Given the description of an element on the screen output the (x, y) to click on. 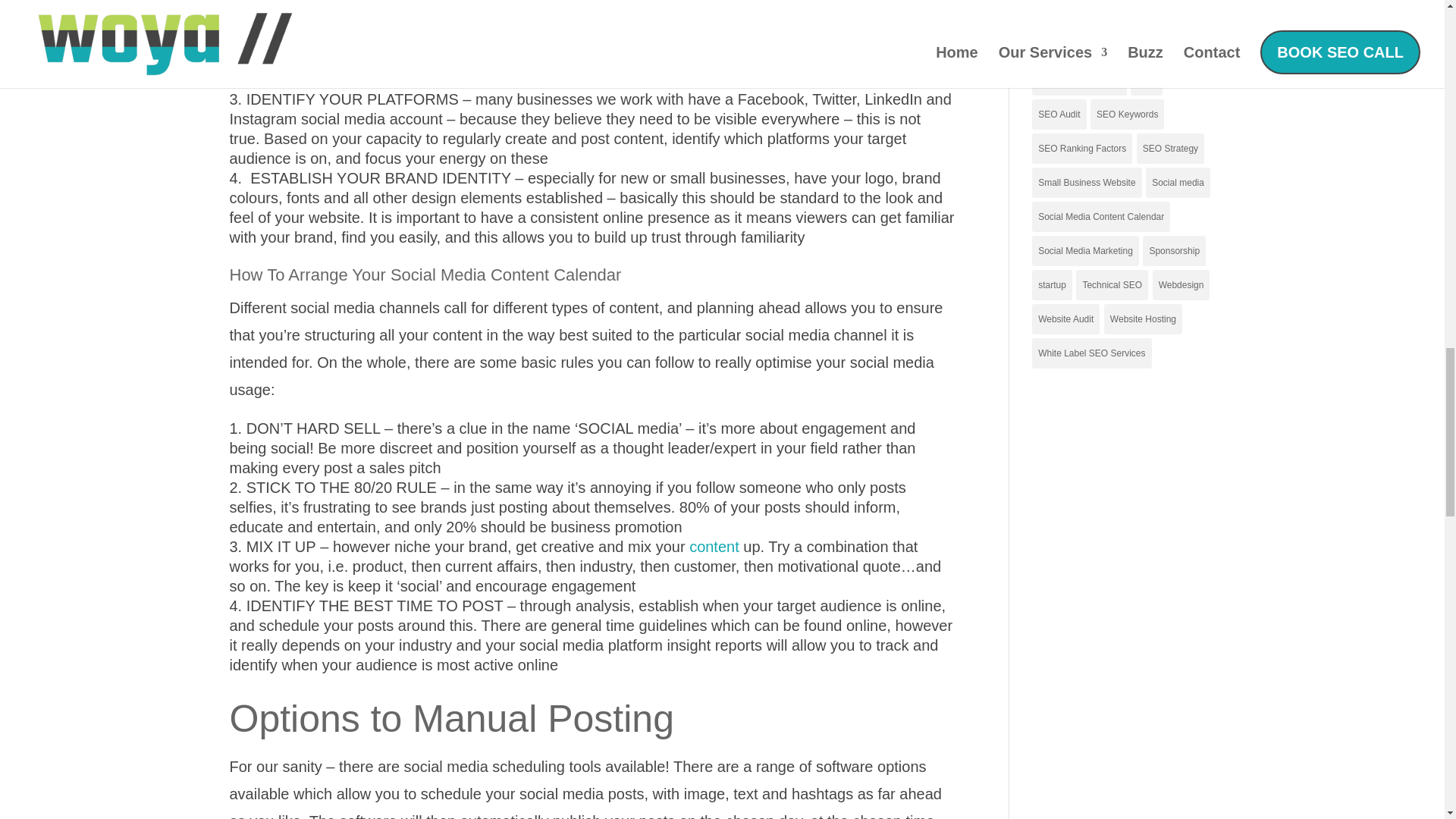
content (713, 546)
